Given the description of an element on the screen output the (x, y) to click on. 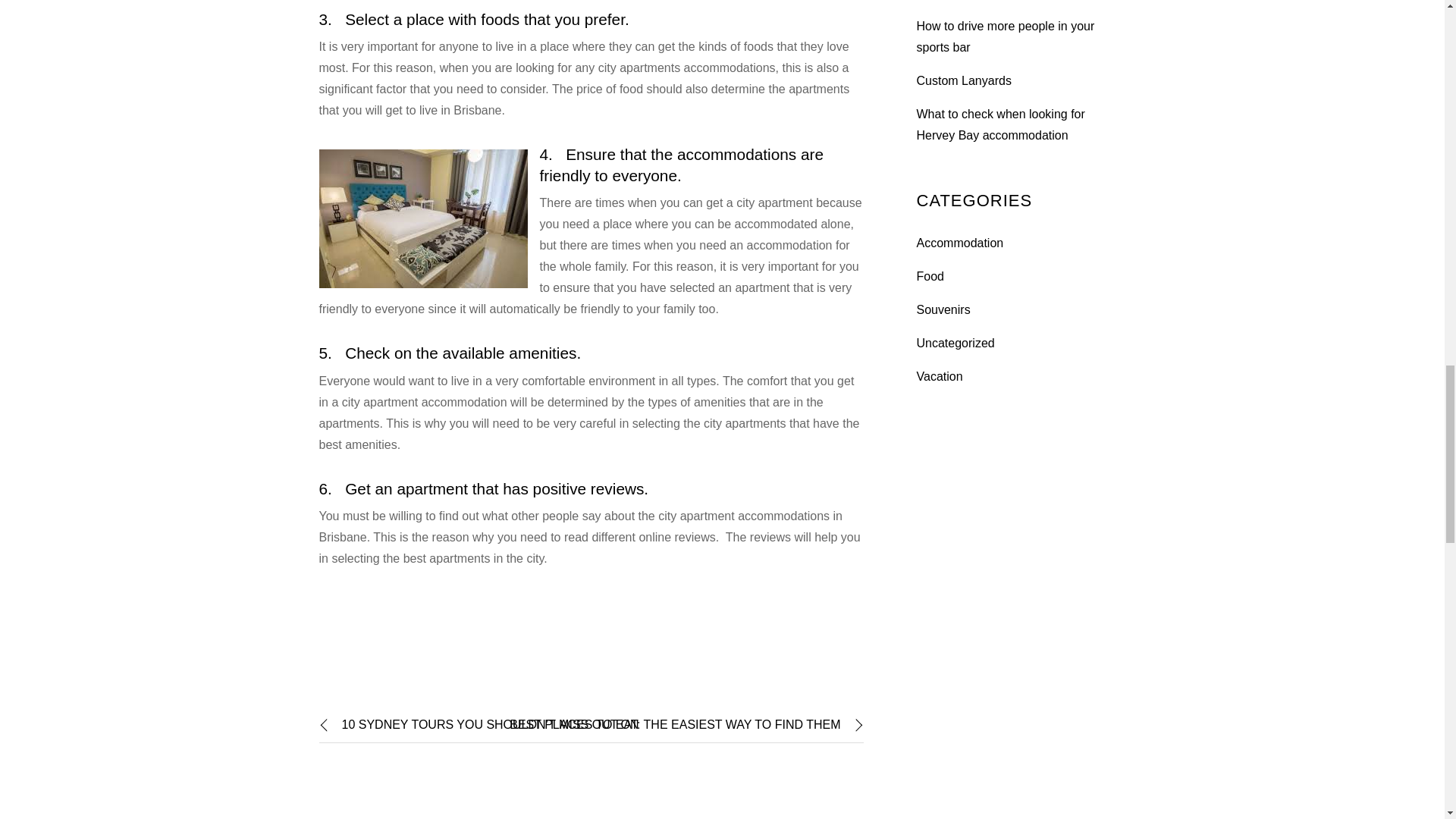
Accommodation (959, 242)
BEST PLACES TO EAT: THE EASIEST WAY TO FIND THEM (686, 724)
How to drive more people in your sports bar (1004, 36)
Food (929, 276)
What to check when looking for Hervey Bay accommodation (999, 124)
Custom Lanyards (962, 80)
Souvenirs (942, 309)
Vacation (938, 376)
Uncategorized (954, 342)
